Given the description of an element on the screen output the (x, y) to click on. 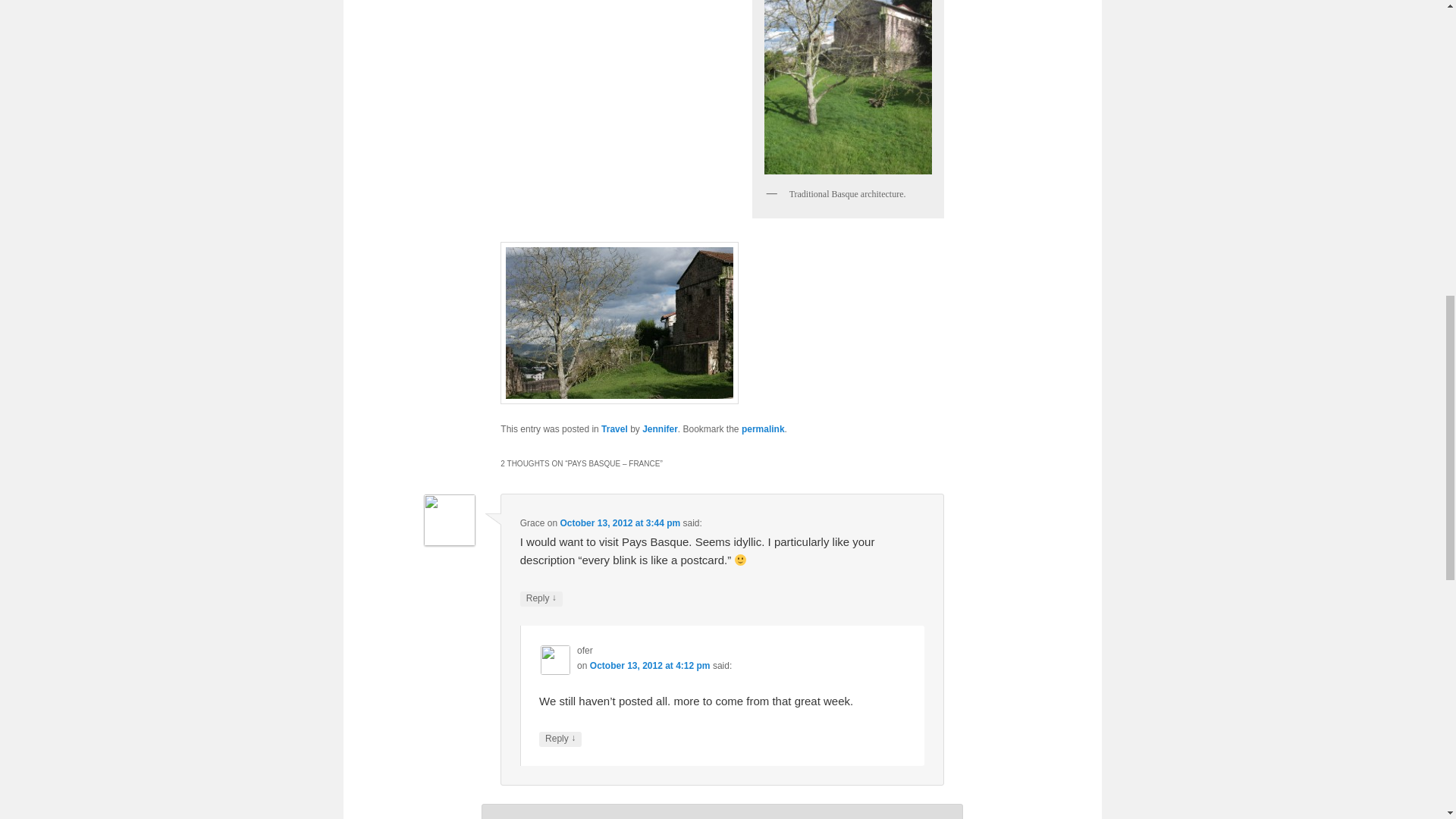
Jennifer (660, 429)
October 13, 2012 at 3:44 pm (619, 522)
Travel (614, 429)
October 13, 2012 at 4:12 pm (649, 665)
permalink (762, 429)
